Given the description of an element on the screen output the (x, y) to click on. 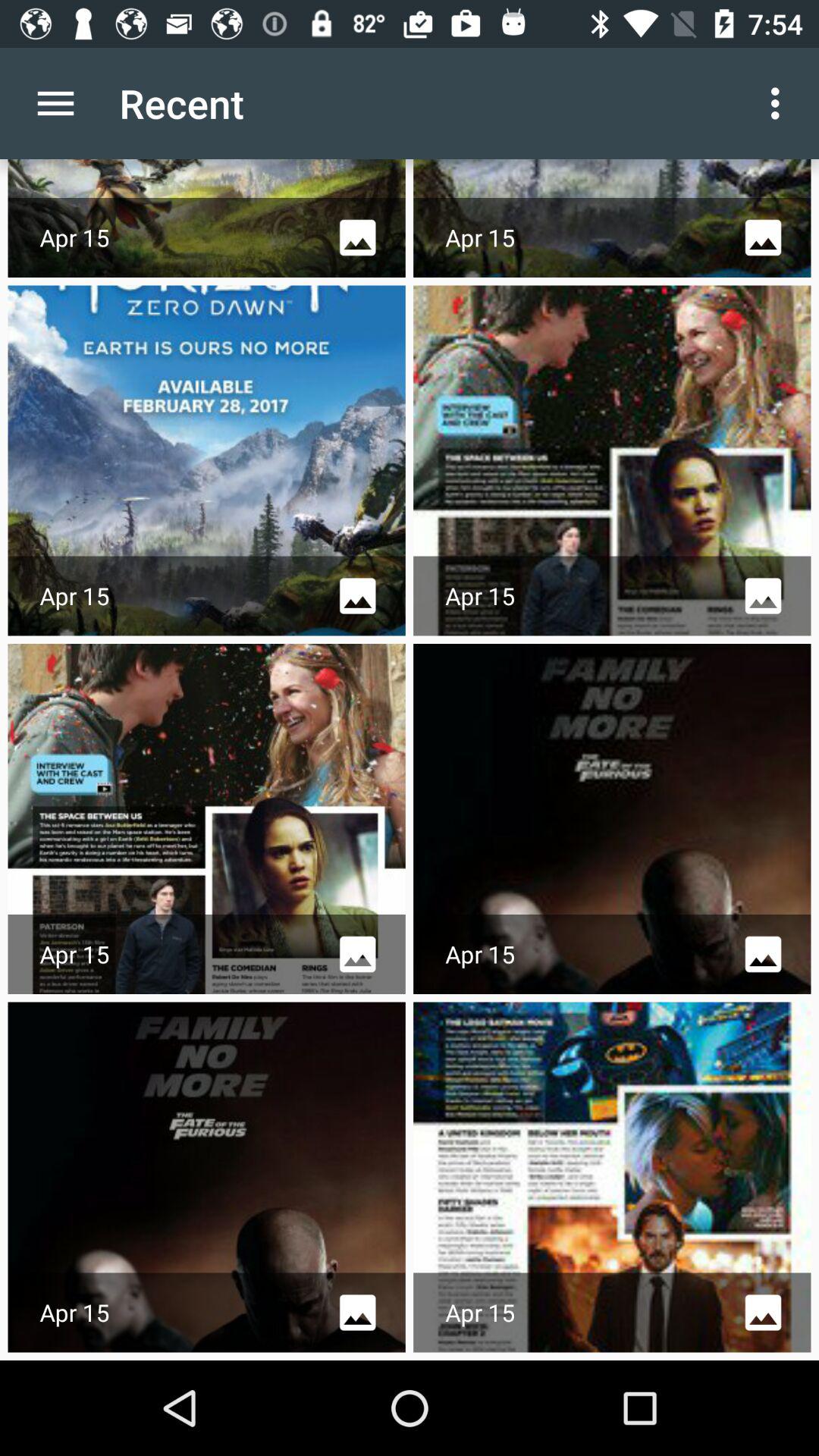
select icon next to recent icon (55, 103)
